Given the description of an element on the screen output the (x, y) to click on. 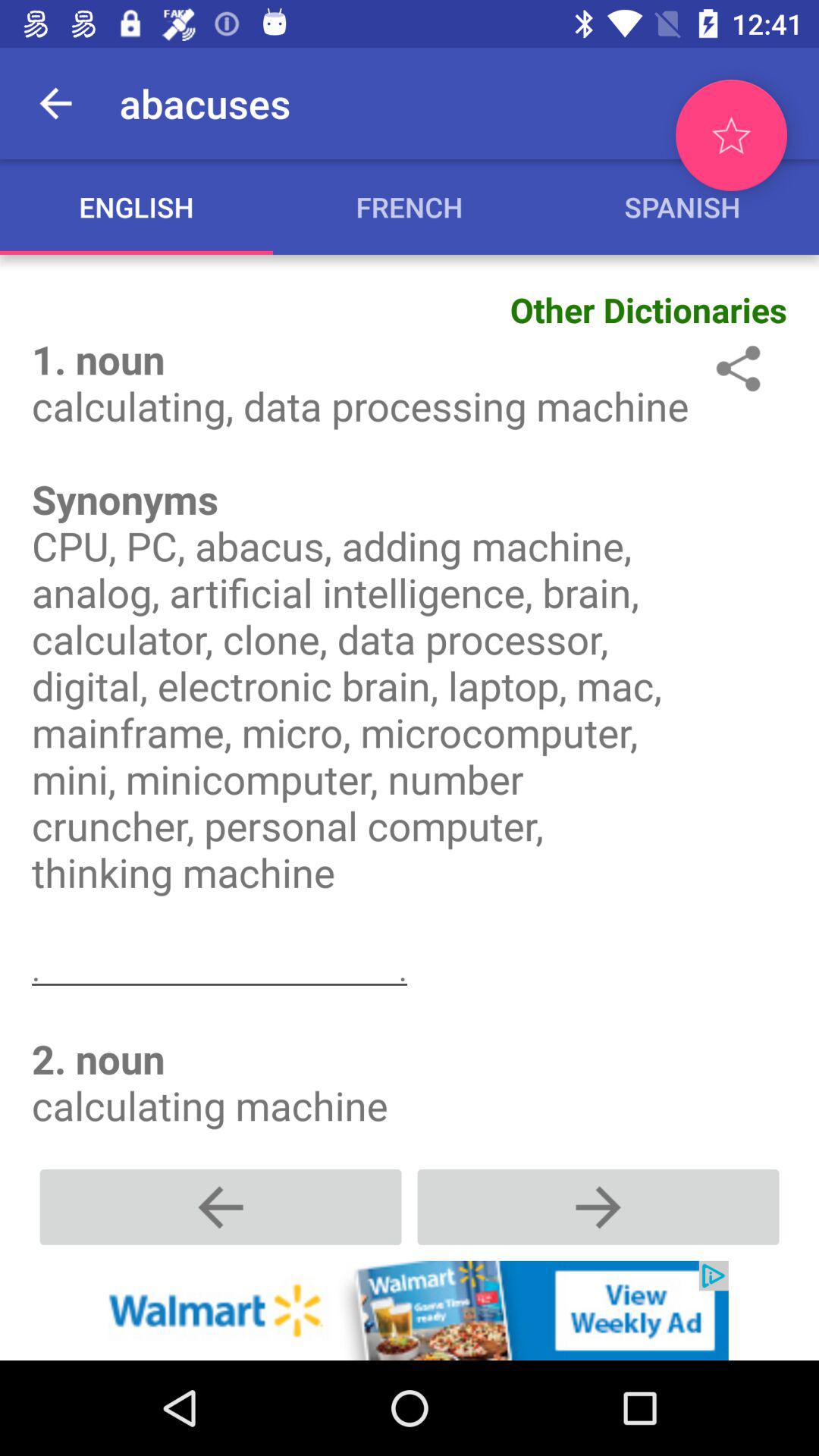
select share (735, 368)
